Given the description of an element on the screen output the (x, y) to click on. 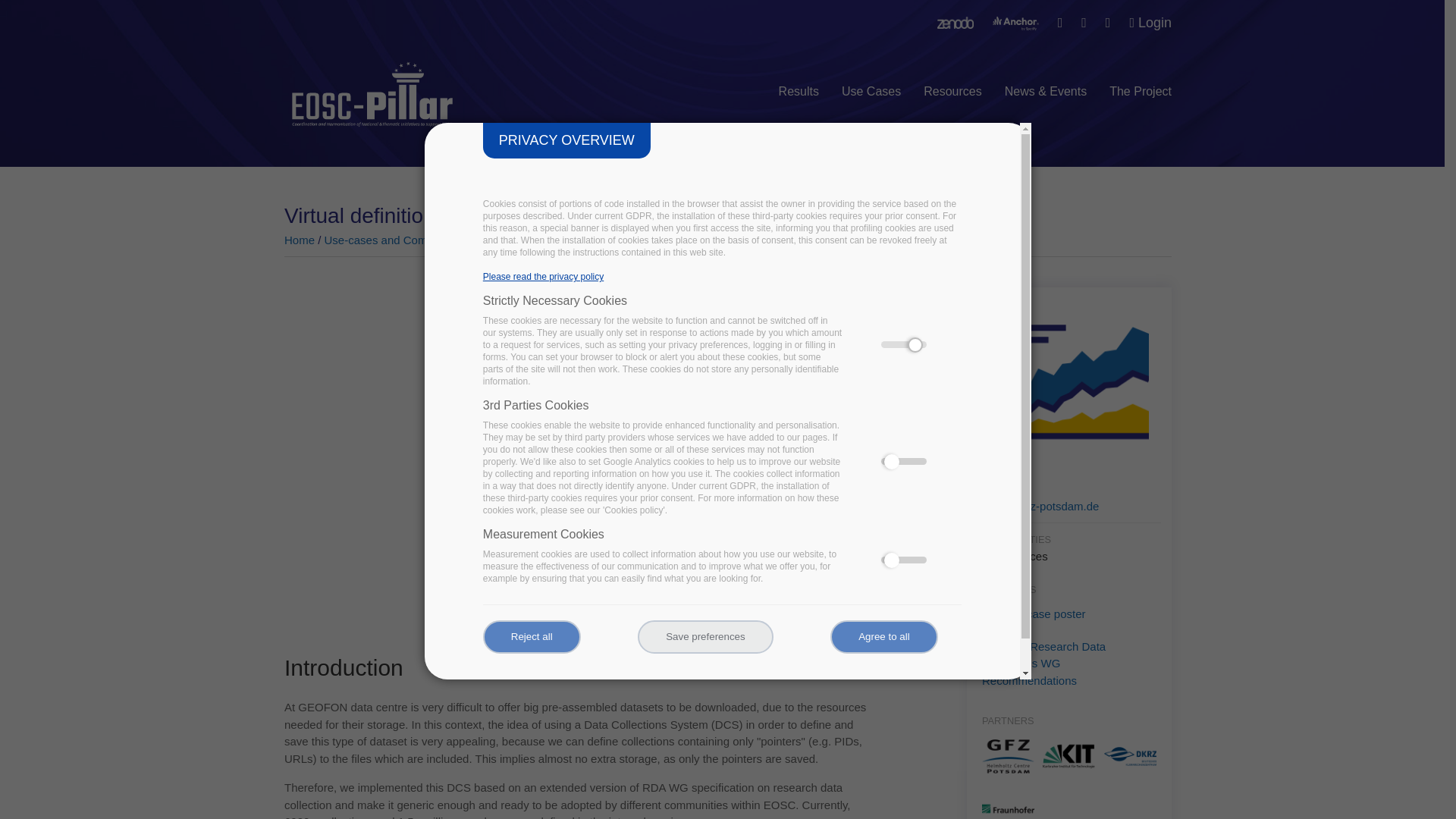
The Project (1140, 81)
Results (798, 81)
Use Cases (871, 81)
Sign in (1150, 22)
Login (1150, 22)
